Given the description of an element on the screen output the (x, y) to click on. 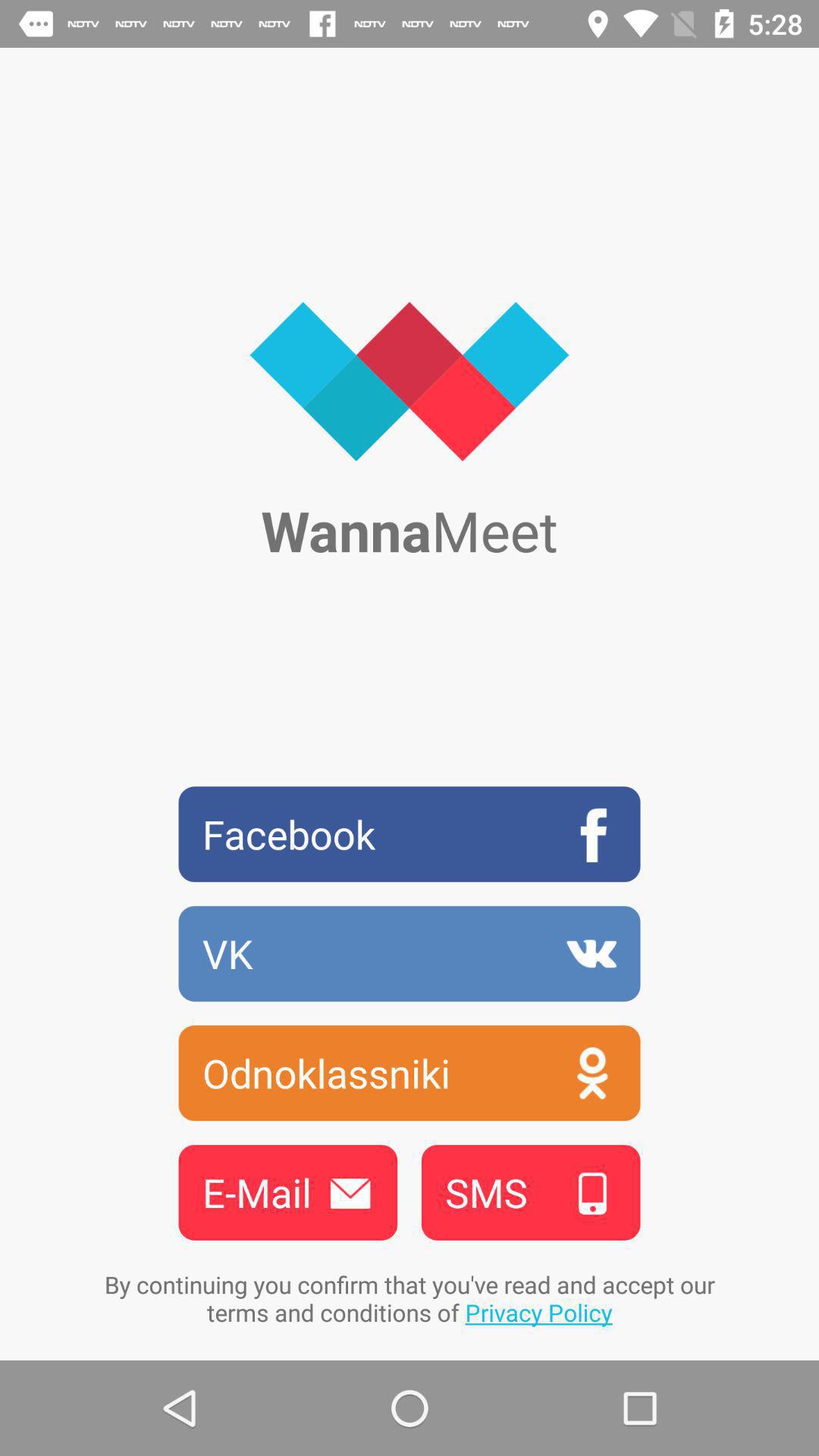
click the item above by continuing you icon (530, 1192)
